Given the description of an element on the screen output the (x, y) to click on. 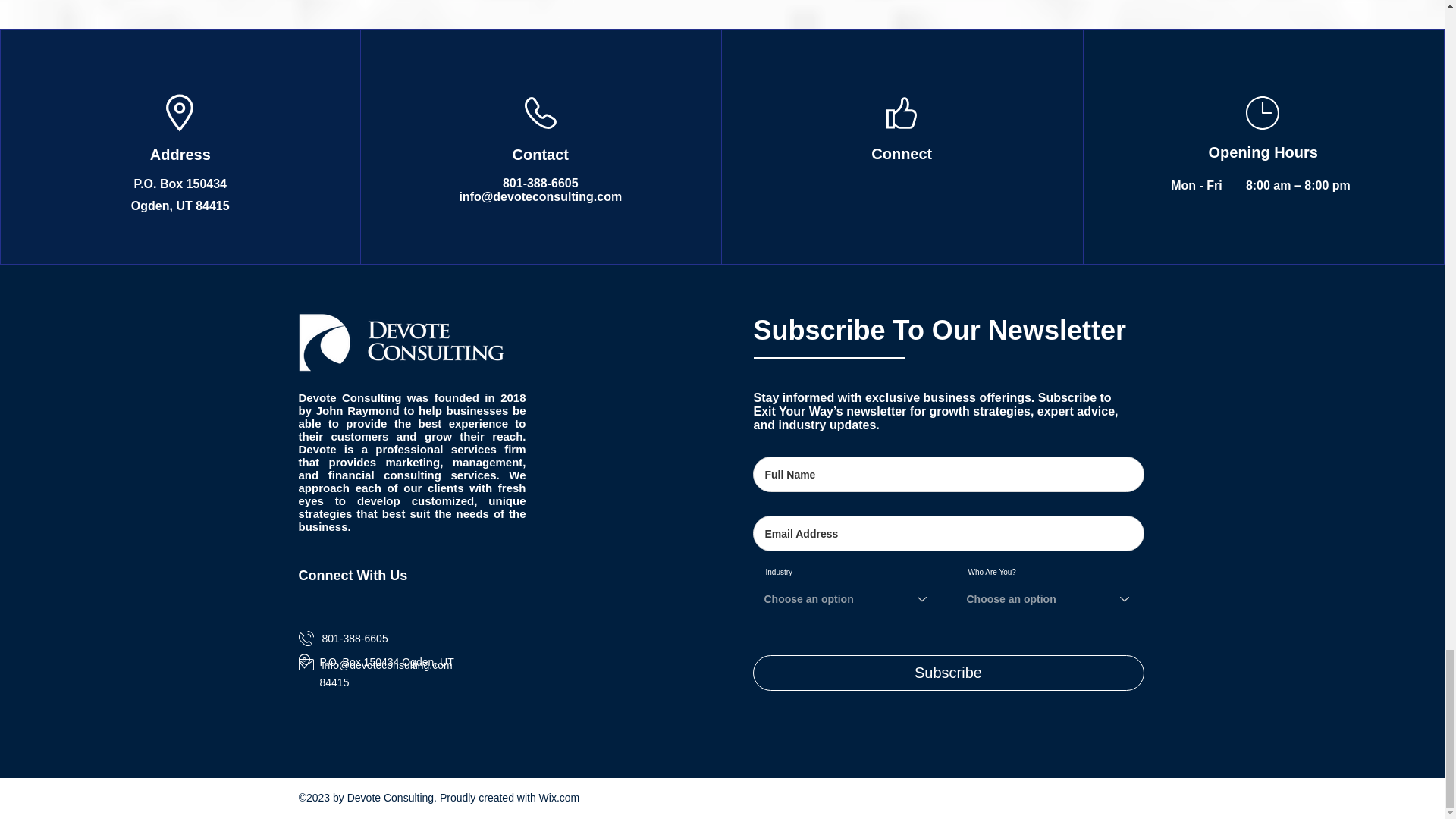
nal (435, 449)
Subscribe (947, 673)
801-388-6605 (354, 638)
801-388-6605 (540, 182)
